Given the description of an element on the screen output the (x, y) to click on. 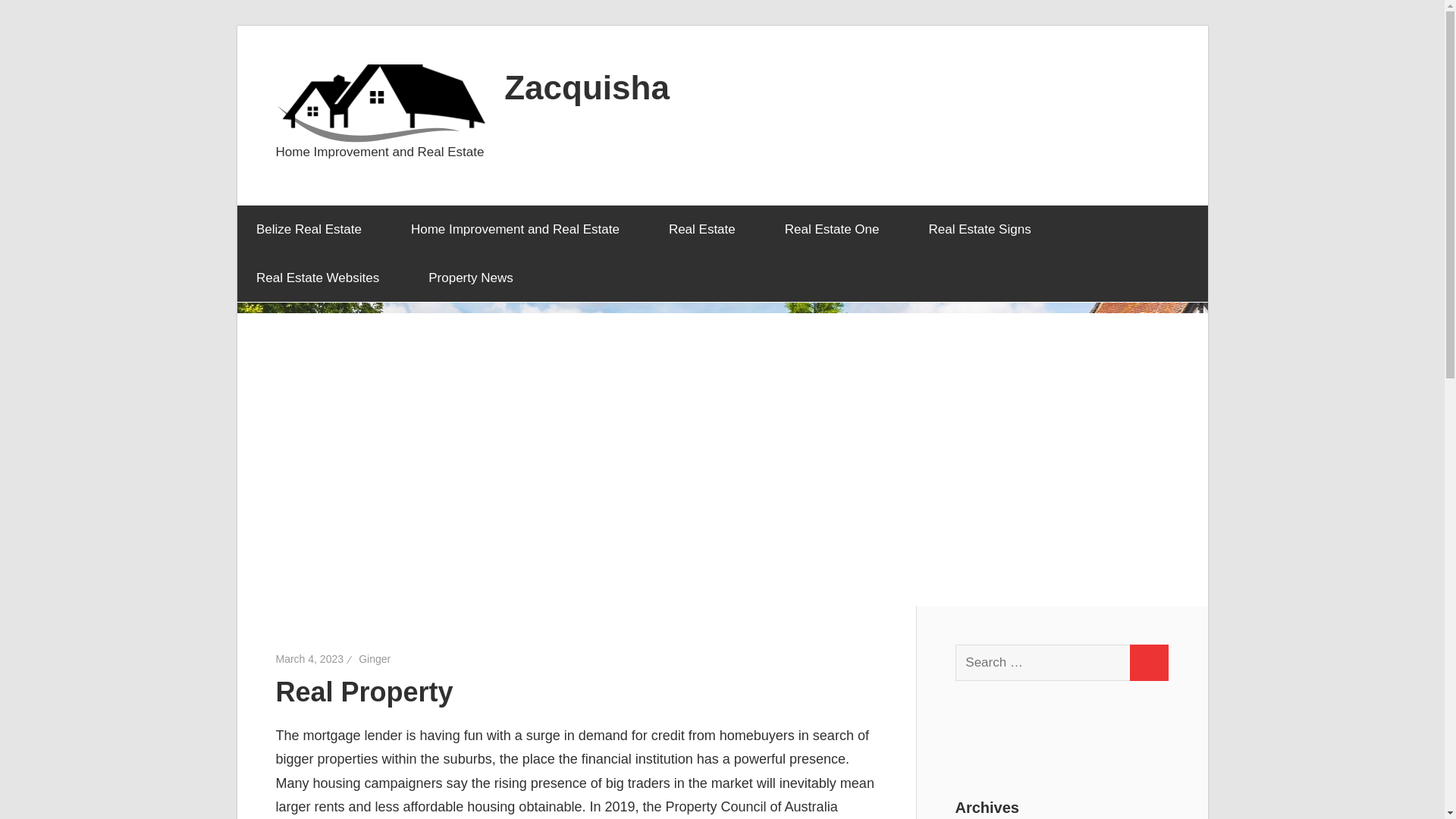
Real Estate (707, 229)
Zacquisha (586, 86)
Search for: (1043, 662)
Belize Real Estate (313, 229)
Real Estate Websites (322, 277)
Real Estate Signs (984, 229)
View all posts by Ginger (374, 658)
Real Estate One (836, 229)
Home Improvement and Real Estate (520, 229)
